Given the description of an element on the screen output the (x, y) to click on. 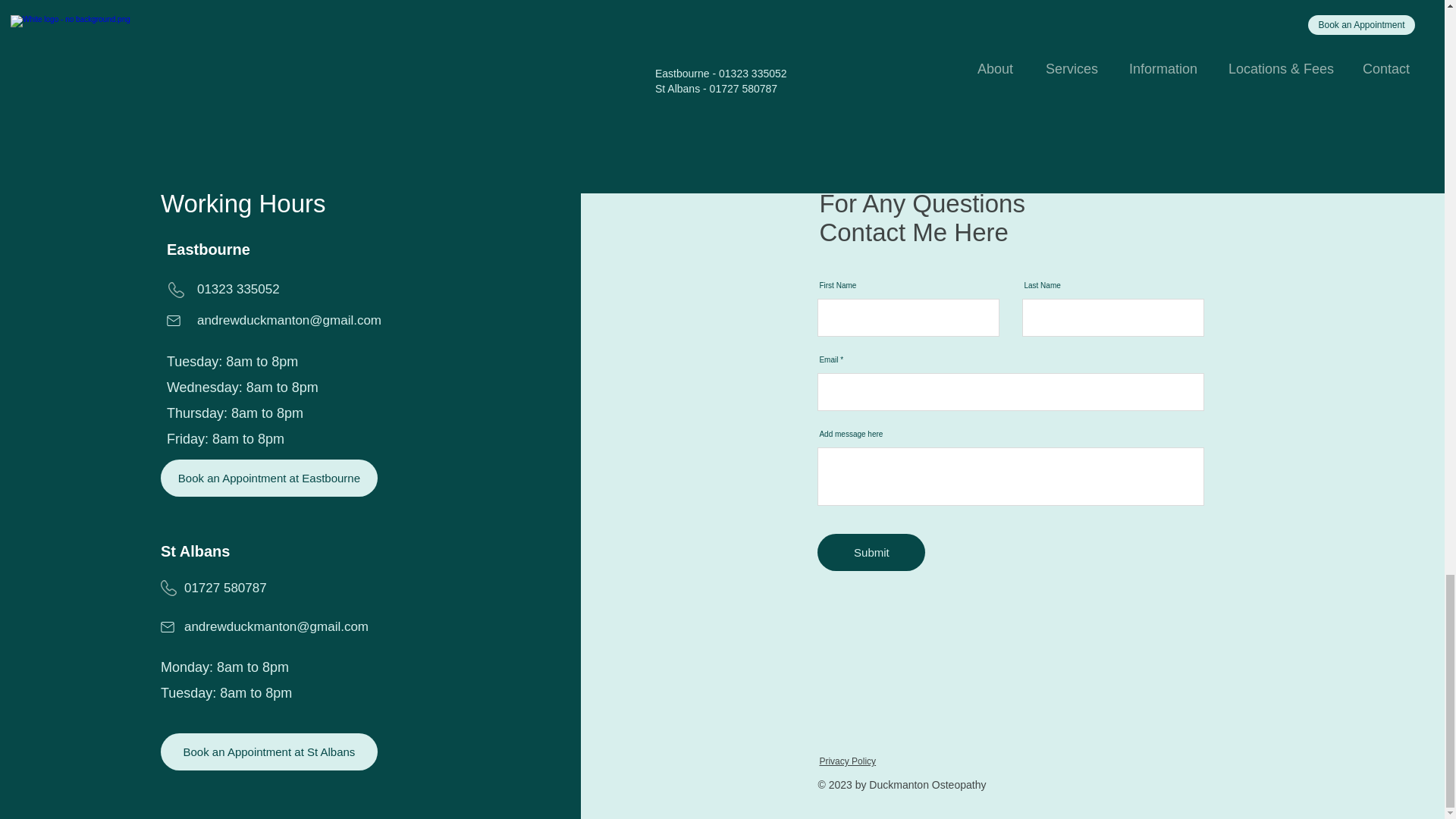
01727 580787 (225, 587)
Submit (870, 551)
Privacy Policy (847, 760)
Book an Appointment at Eastbourne (268, 477)
01323 335052 (237, 288)
Book an Appointment (721, 6)
Book an Appointment at St Albans (268, 751)
